Given the description of an element on the screen output the (x, y) to click on. 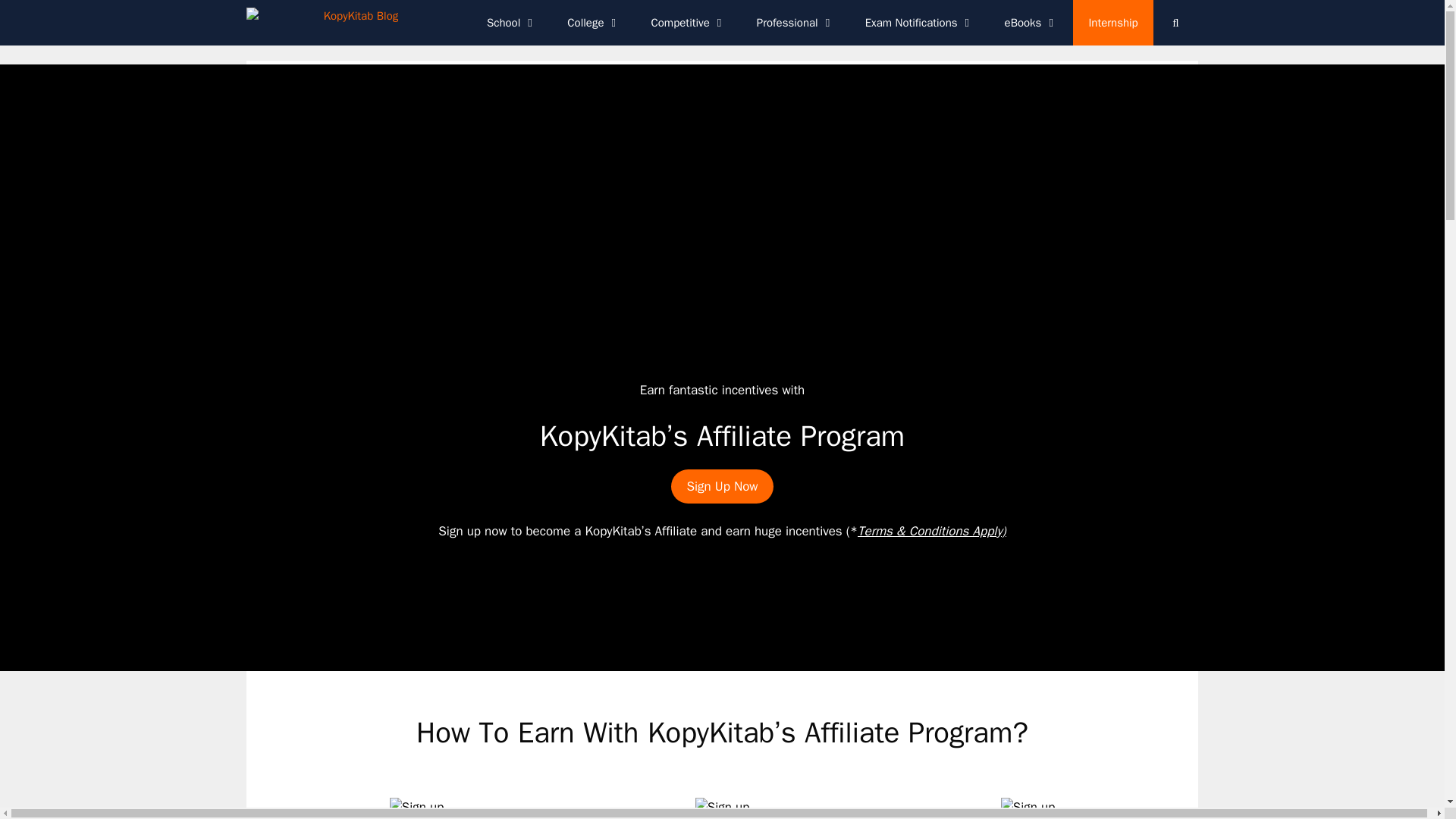
KopyKitab Blog (326, 22)
KopyKitab Blog (321, 22)
